Given the description of an element on the screen output the (x, y) to click on. 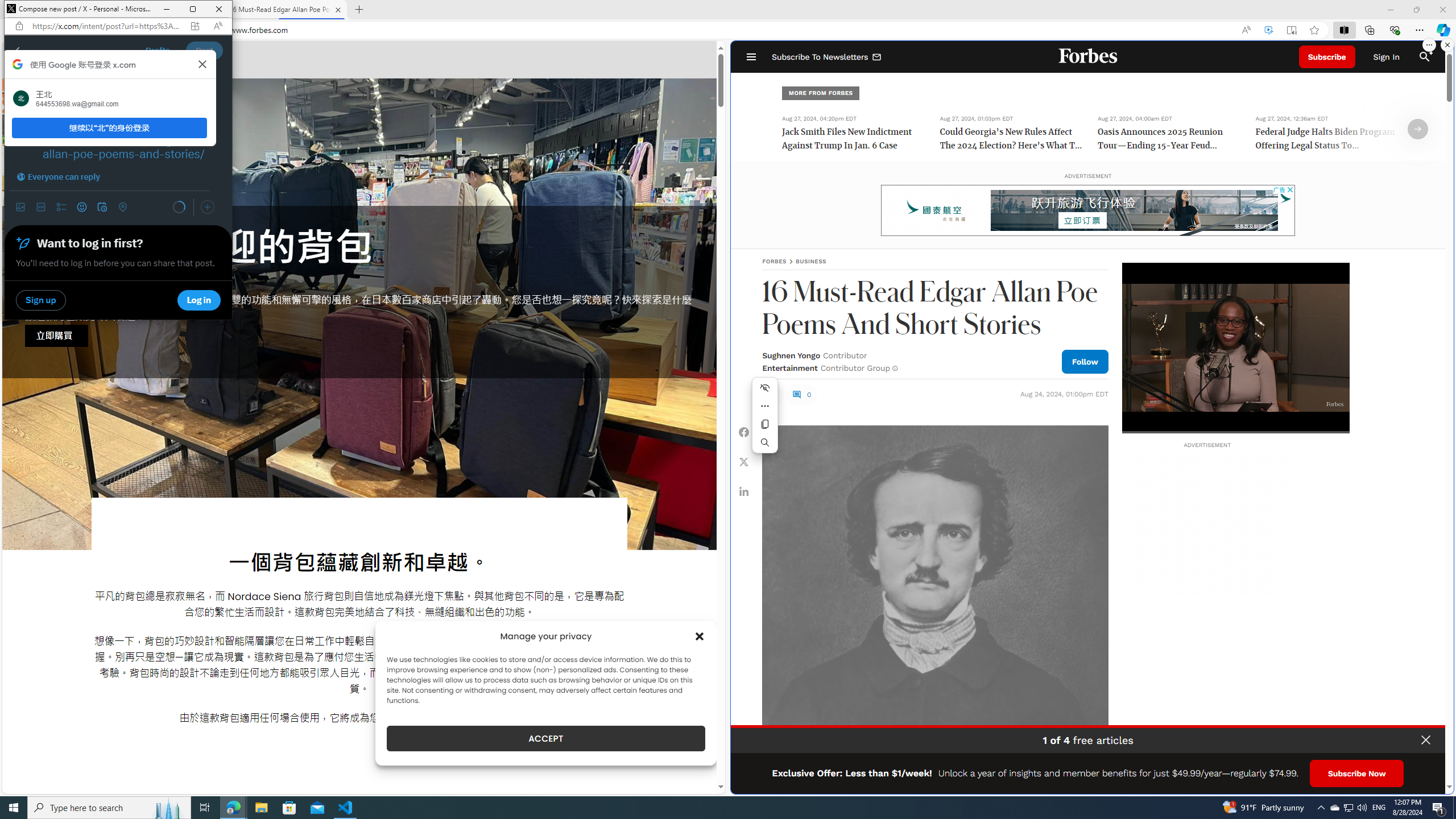
Share Twitter (743, 461)
Subscribe (1326, 56)
Notification Chevron (1320, 807)
Q2790: 100% (1361, 807)
Visual Studio Code - 1 running window (1333, 807)
Class: fs-icon fs-icon--arrow-right (345, 807)
Mini menu on text selection (1417, 129)
